Given the description of an element on the screen output the (x, y) to click on. 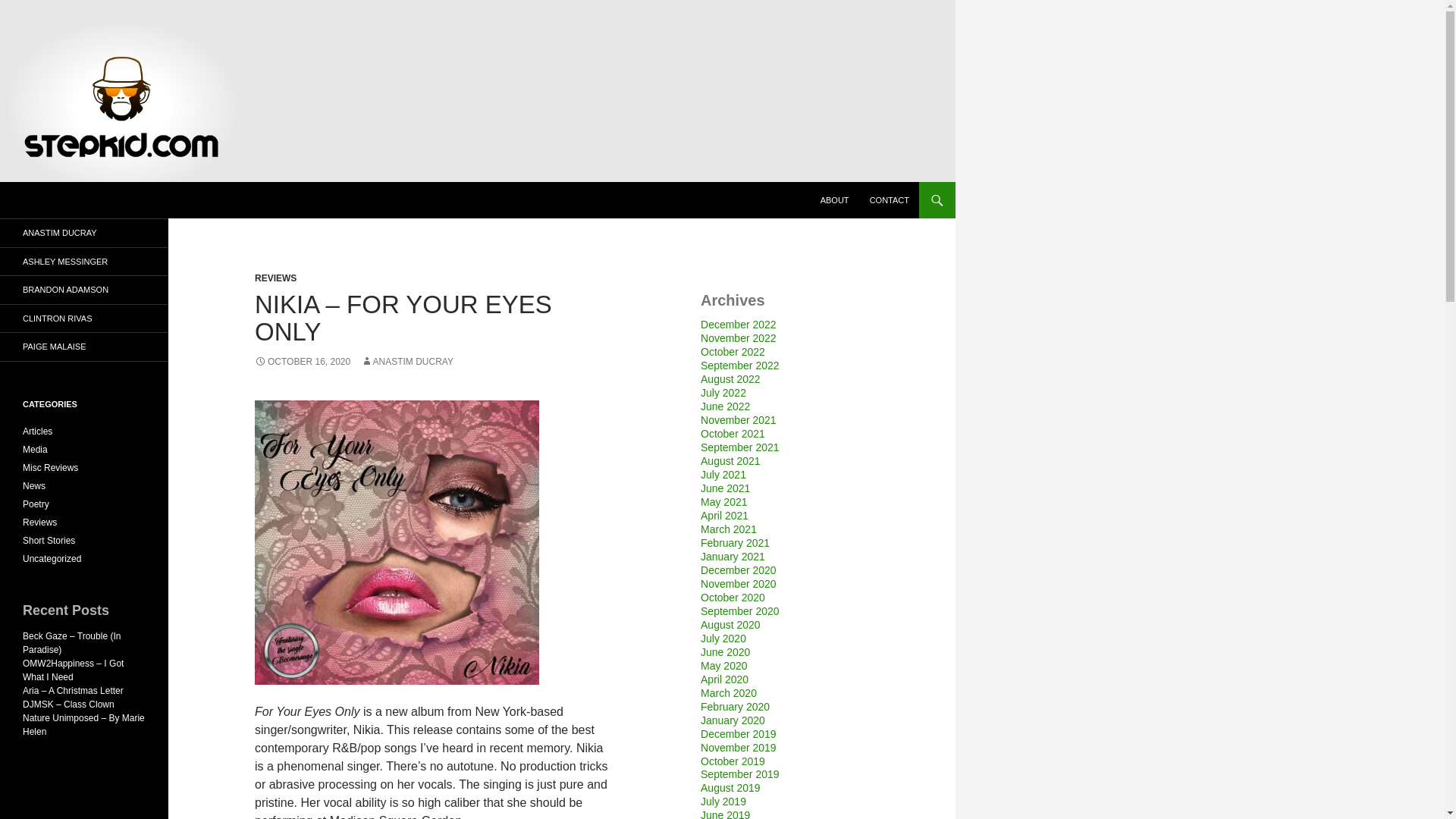
August 2021 (730, 460)
CONTACT (889, 199)
ABOUT (834, 199)
October 2020 (732, 597)
OCTOBER 16, 2020 (302, 361)
September 2020 (739, 611)
November 2020 (738, 583)
September 2022 (739, 365)
September 2021 (739, 447)
June 2021 (724, 488)
May 2021 (723, 501)
REVIEWS (275, 277)
July 2020 (722, 638)
November 2022 (738, 337)
